Given the description of an element on the screen output the (x, y) to click on. 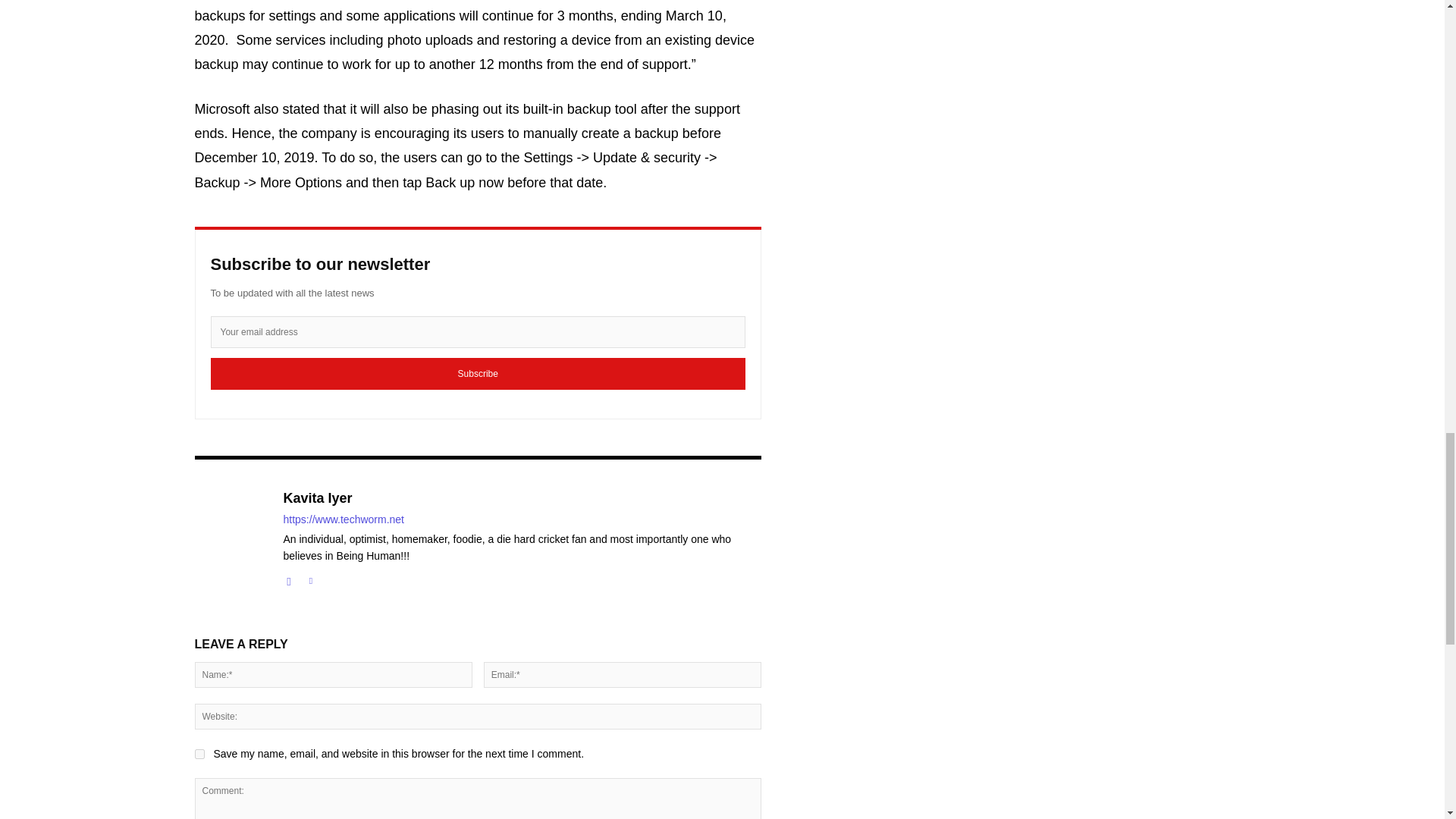
yes (198, 754)
Facebook (289, 577)
Kavita Iyer (522, 498)
Subscribe (478, 373)
Twitter (309, 577)
